Given the description of an element on the screen output the (x, y) to click on. 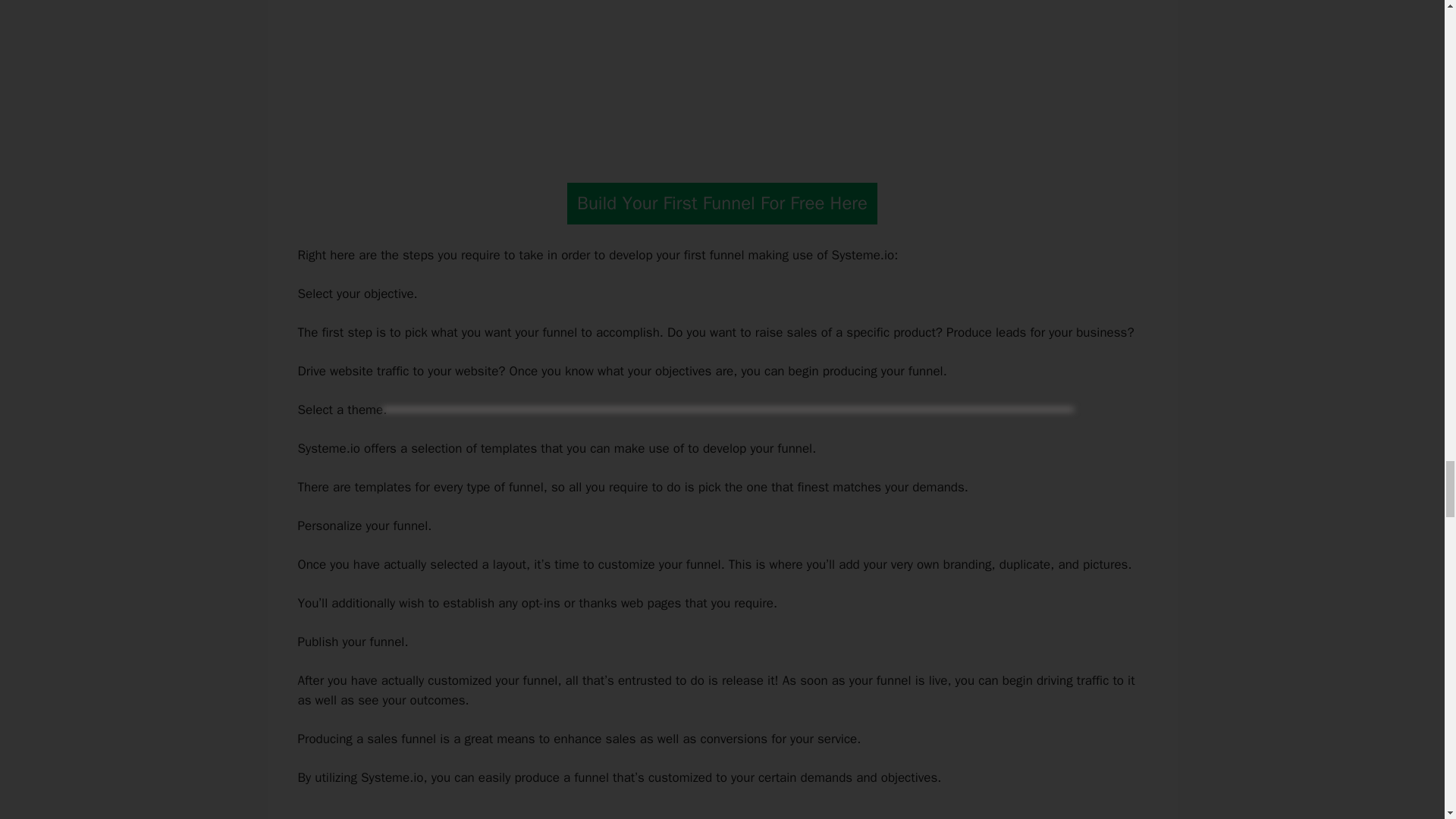
Build Your First Funnel For Free Here (722, 203)
